Given the description of an element on the screen output the (x, y) to click on. 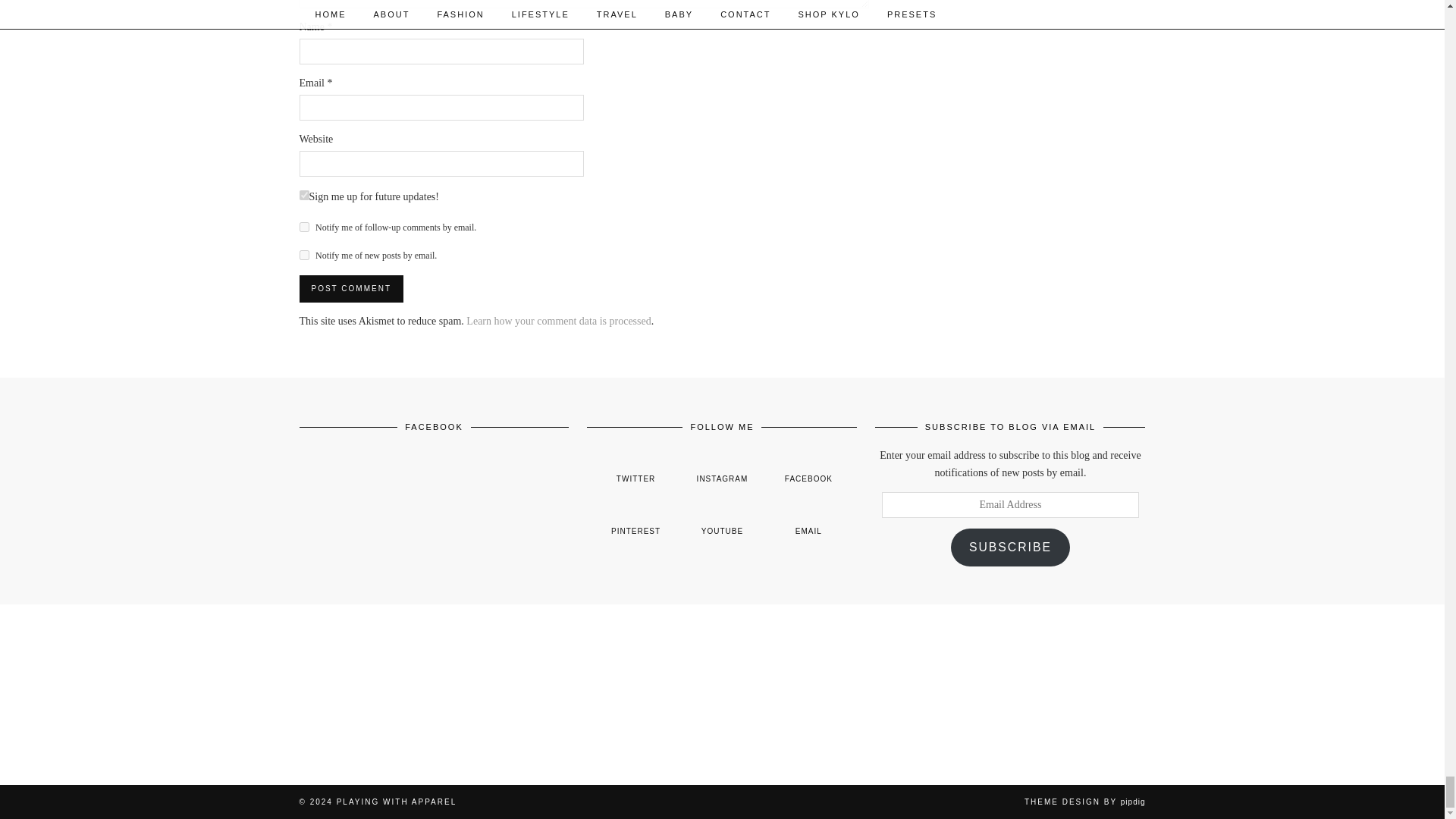
1 (303, 194)
subscribe (303, 226)
Post Comment (350, 288)
subscribe (303, 255)
